Given the description of an element on the screen output the (x, y) to click on. 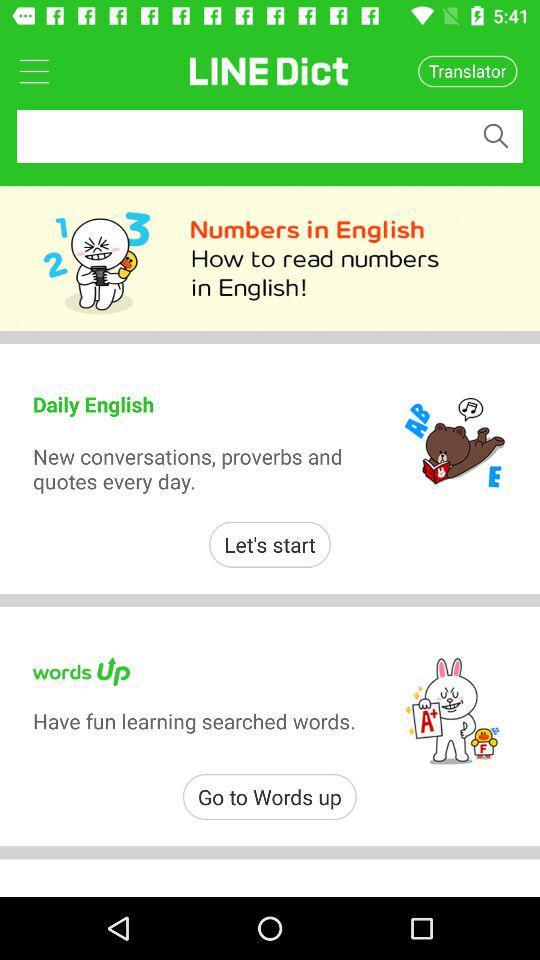
click item above have fun learning item (269, 544)
